Given the description of an element on the screen output the (x, y) to click on. 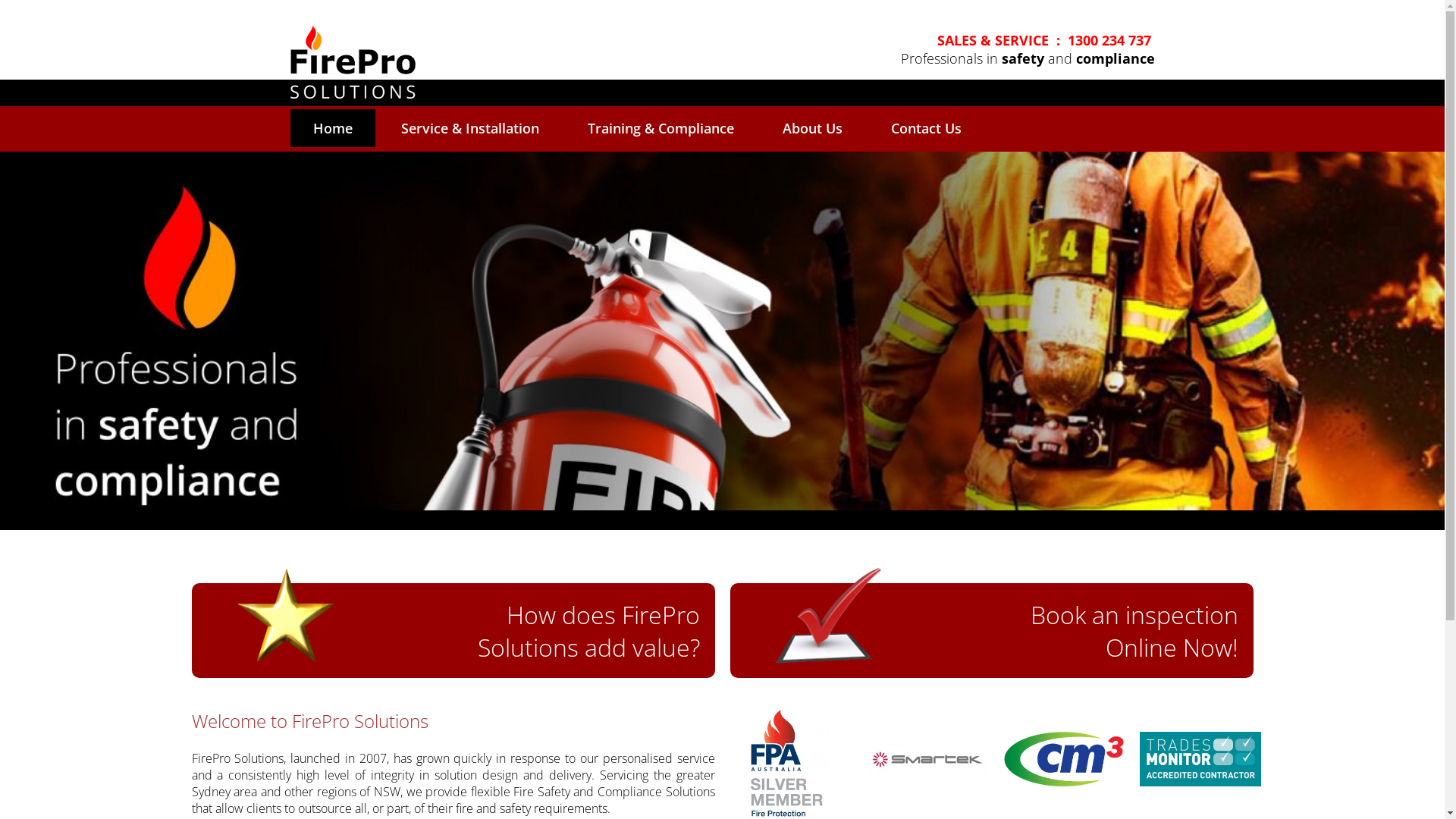
Service & Installation Element type: text (469, 128)
1300 234 737 Element type: text (1109, 40)
Training & Compliance Element type: text (660, 128)
Home Element type: text (331, 128)
About Us Element type: text (812, 128)
Contact Us Element type: text (925, 128)
